Given the description of an element on the screen output the (x, y) to click on. 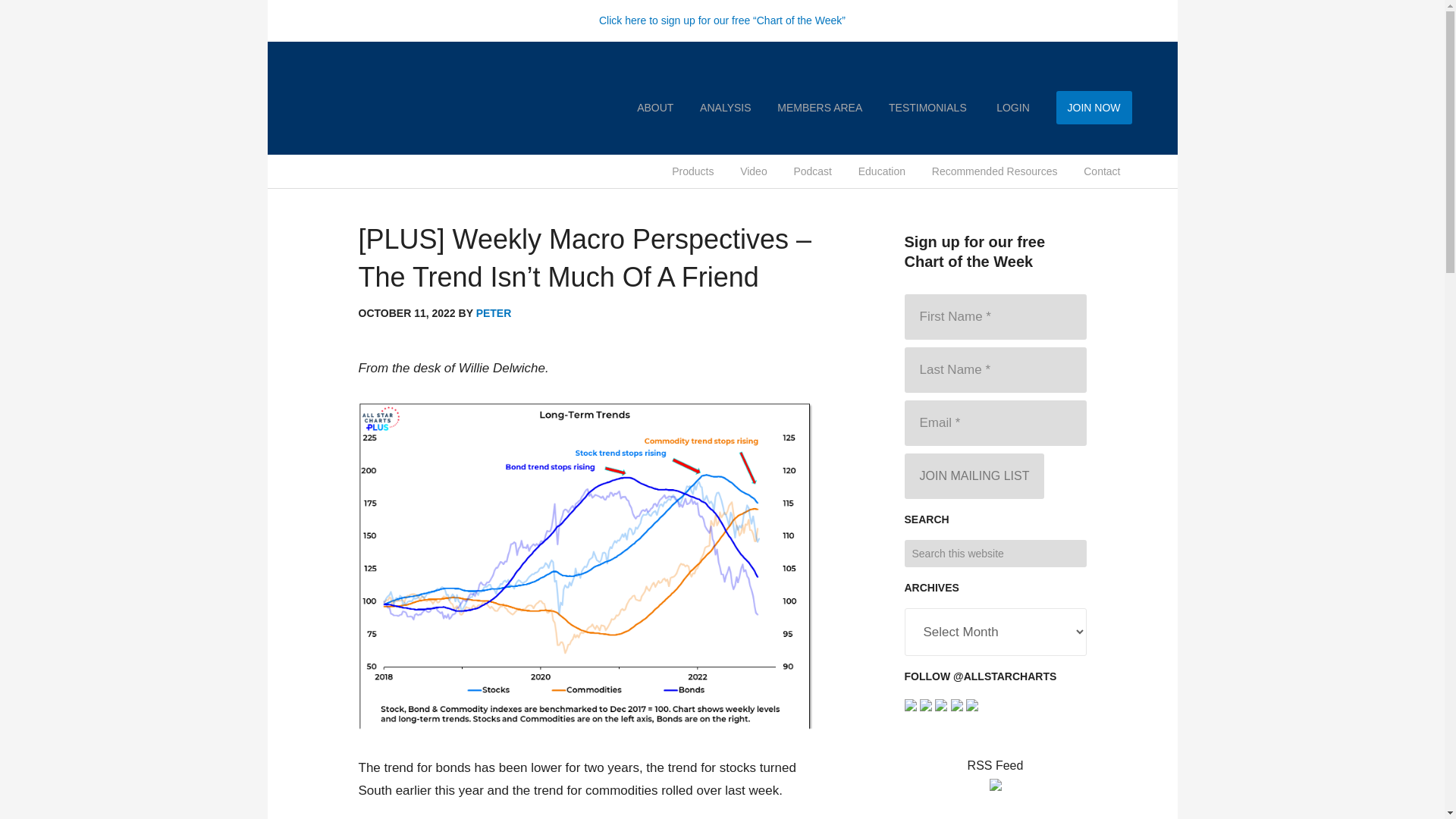
MEMBERS AREA (819, 107)
ALL STAR CHARTS (388, 75)
ABOUT (655, 107)
TESTIMONIALS (927, 107)
ANALYSIS (724, 107)
